Given the description of an element on the screen output the (x, y) to click on. 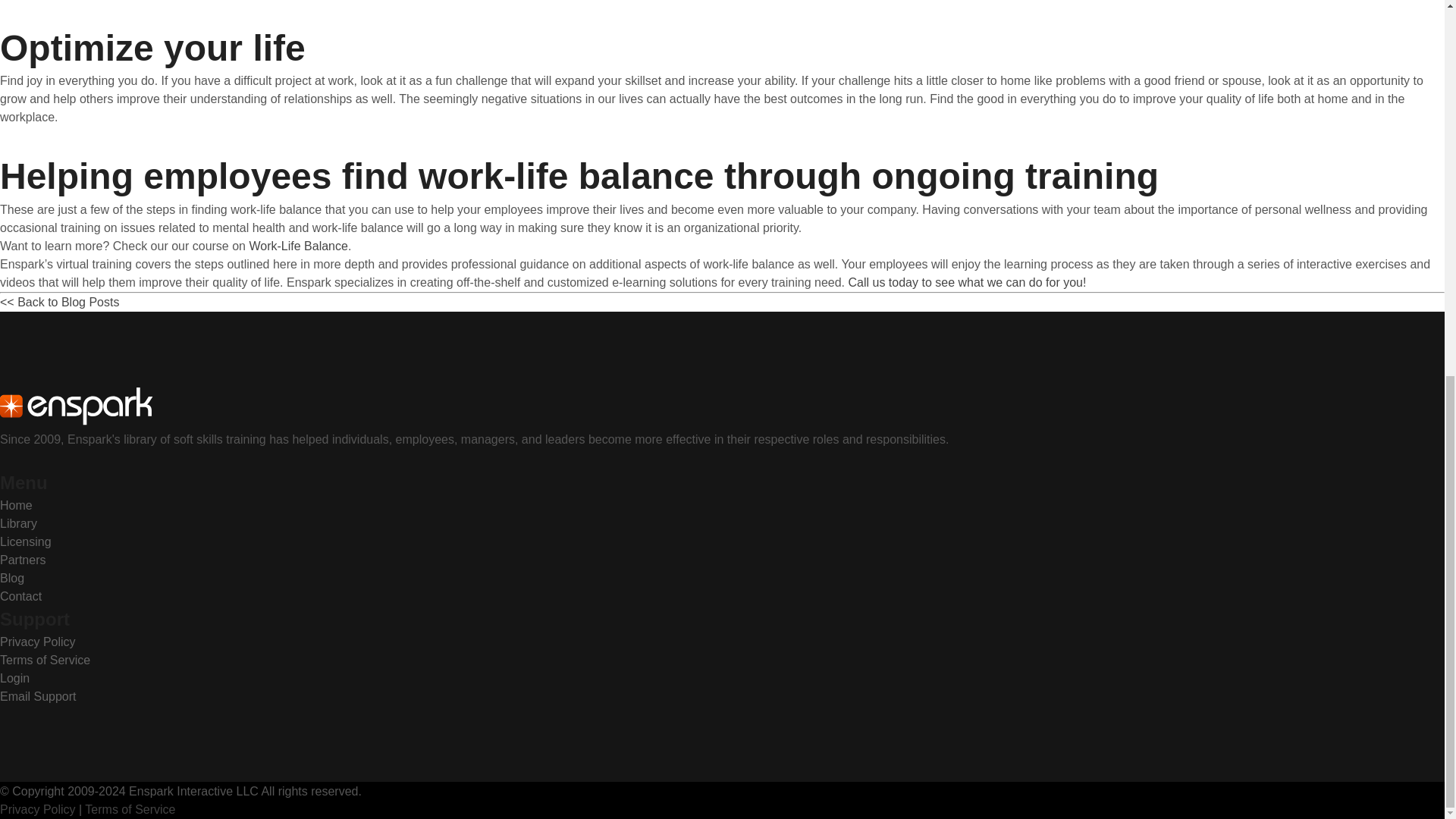
Login (14, 677)
Home (16, 504)
Contact (21, 595)
Blog (12, 577)
Privacy Policy (37, 641)
Terms of Service (45, 659)
Partners (22, 559)
Work-Life Balance (297, 245)
Privacy Policy (37, 809)
Call us today to see what we can do for you! (966, 282)
